Given the description of an element on the screen output the (x, y) to click on. 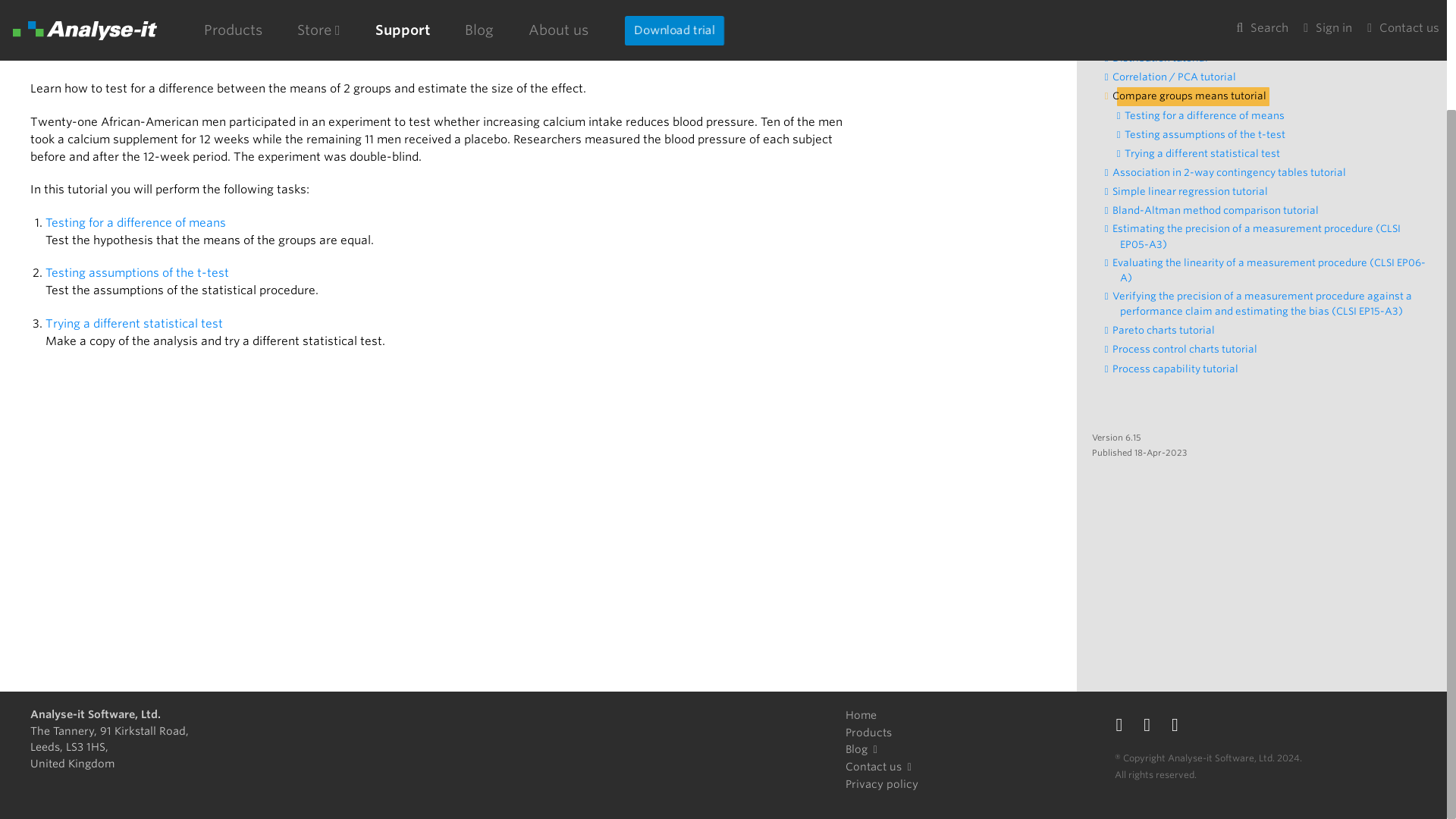
Testing assumptions of the t-test (137, 272)
 Testing assumptions of the t-test (1208, 135)
 Bland-Altman method comparison tutorial (1219, 210)
 Distribution tutorial (1163, 58)
Blog   (864, 749)
Privacy policy (882, 783)
 Testing for a difference of means (1208, 116)
Products (869, 732)
Tutorials (54, 2)
